Given the description of an element on the screen output the (x, y) to click on. 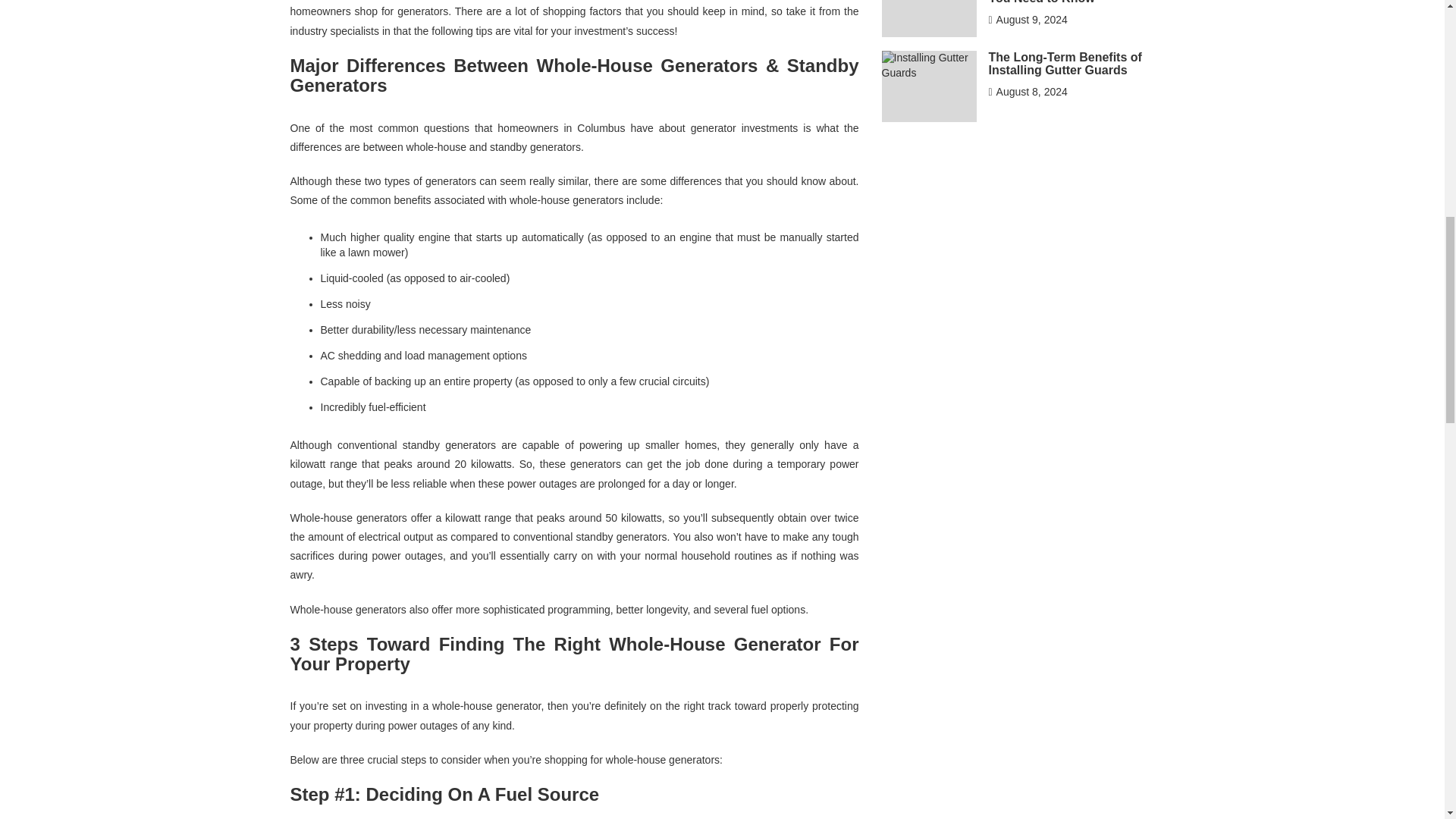
August 9, 2024 (1027, 19)
The Long-Term Benefits of Installing Gutter Guards (1064, 63)
